Given the description of an element on the screen output the (x, y) to click on. 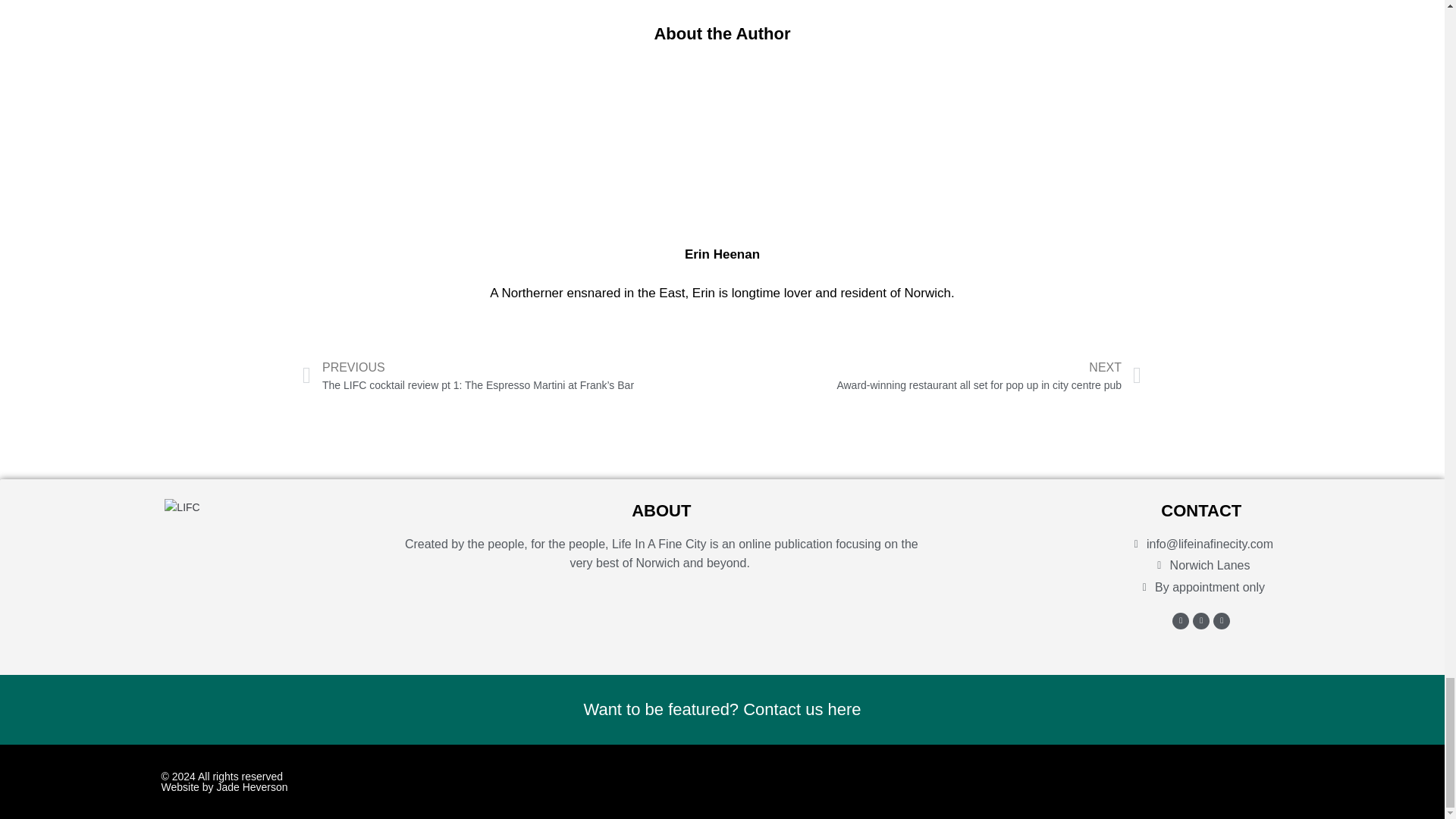
LIFC (181, 506)
